Given the description of an element on the screen output the (x, y) to click on. 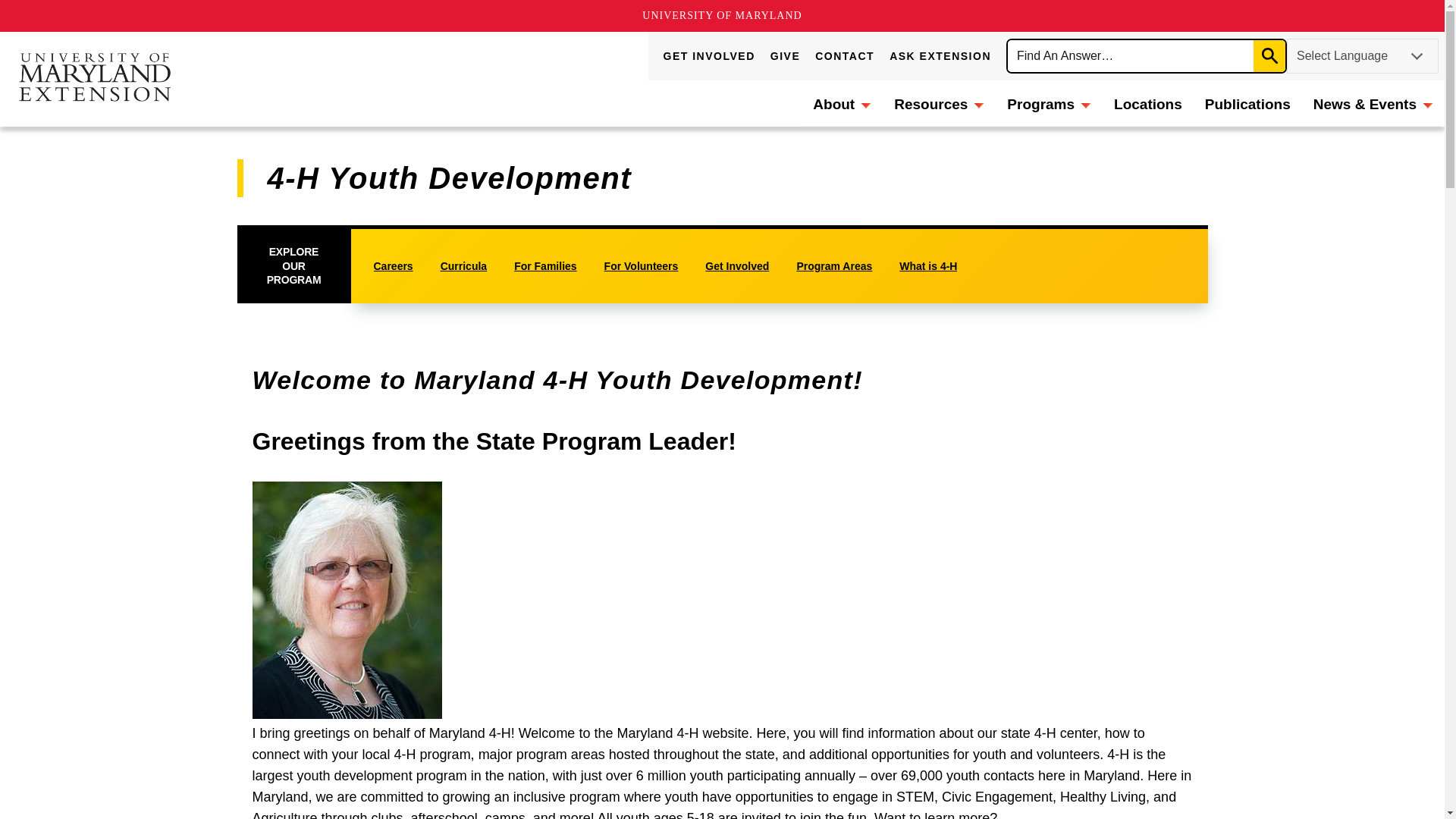
Programs (1048, 103)
GIVE (784, 55)
CONTACT (845, 55)
ASK EXTENSION (940, 55)
University of Maryland Extension logo (94, 78)
About (842, 103)
Locations (1147, 103)
UNIVERSITY OF MARYLAND (722, 15)
Resources (938, 103)
Publications (1247, 103)
Submit Search (1269, 56)
GET INVOLVED (709, 55)
